Given the description of an element on the screen output the (x, y) to click on. 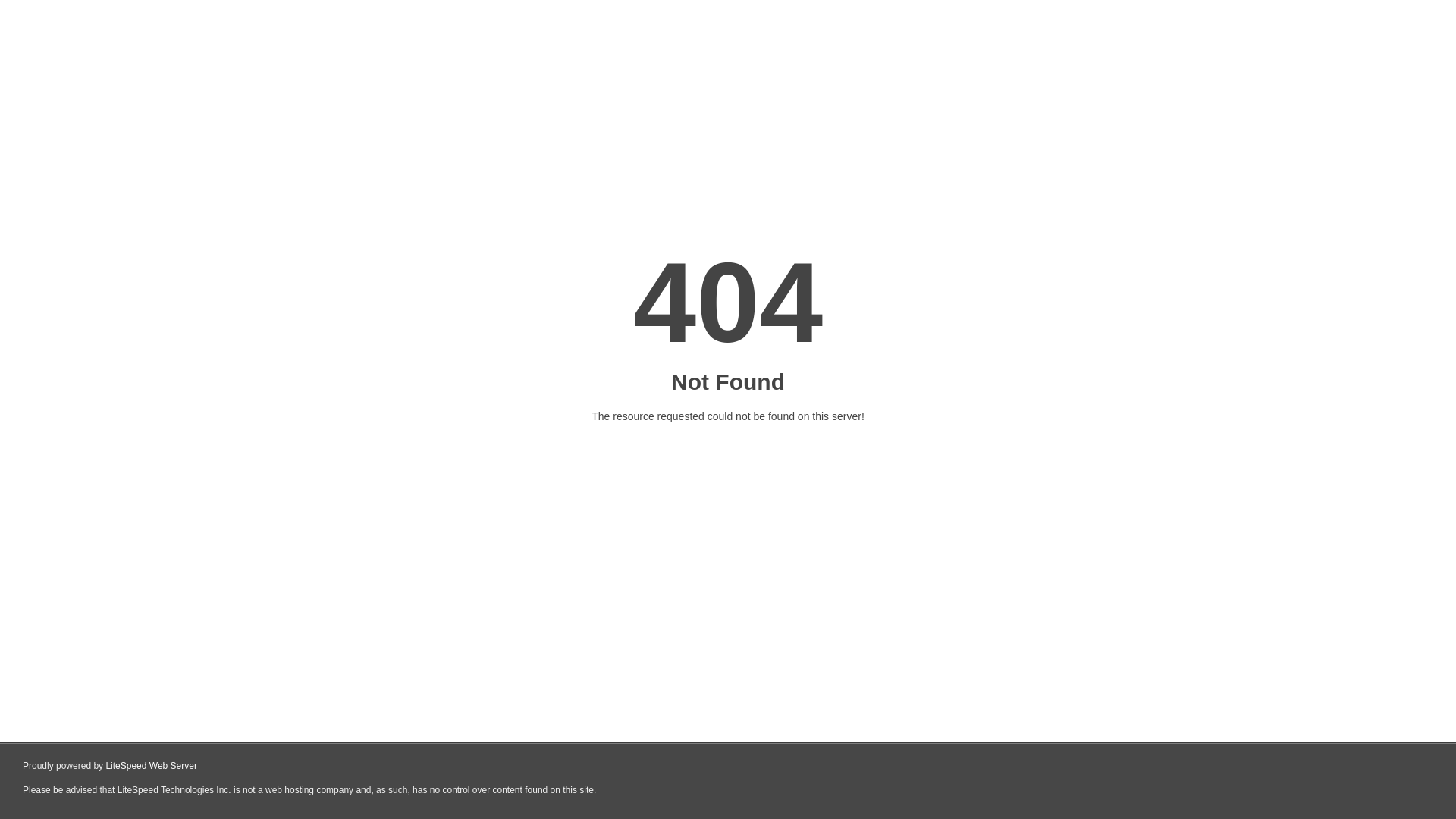
LiteSpeed Web Server Element type: text (151, 765)
